Given the description of an element on the screen output the (x, y) to click on. 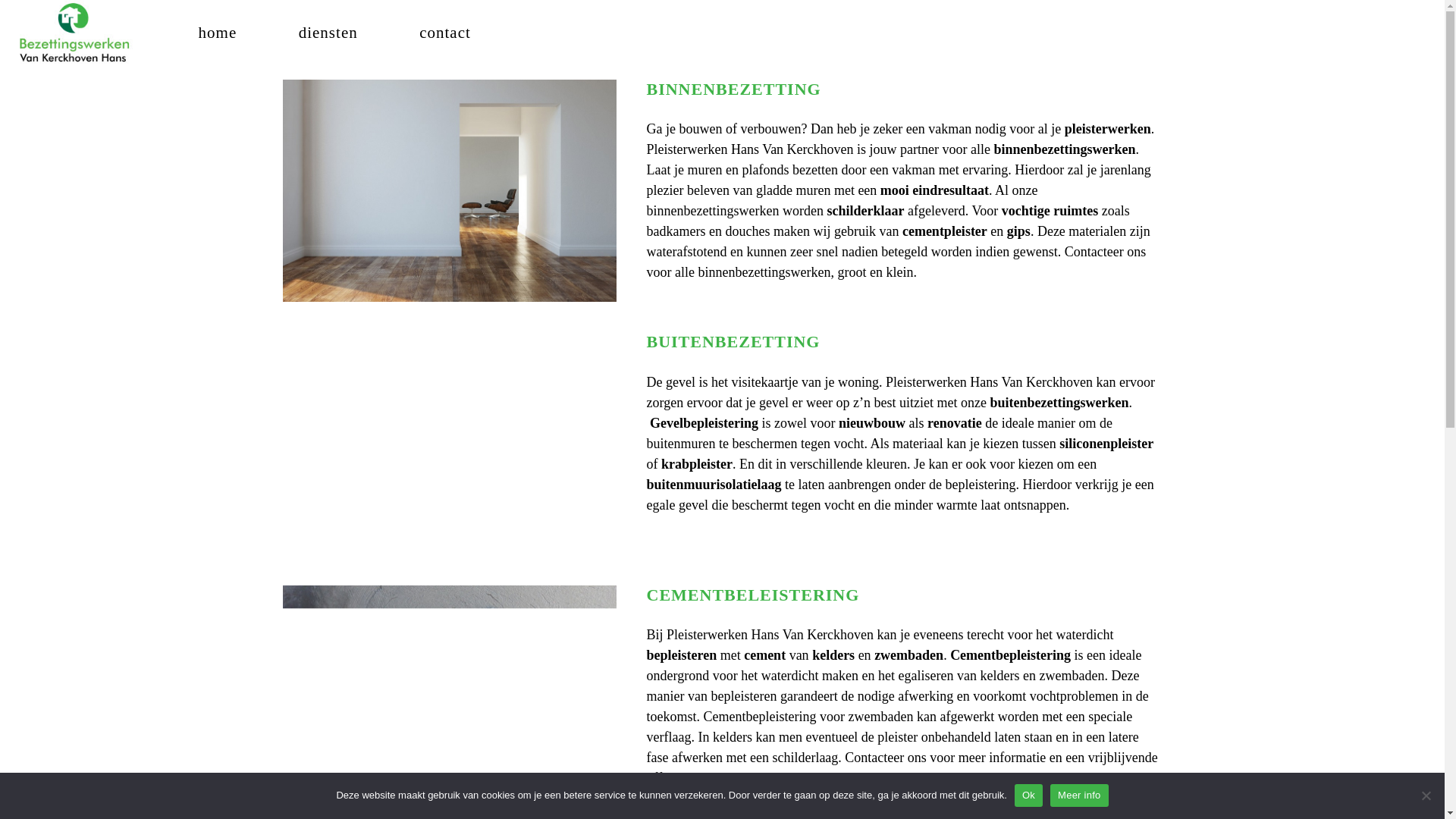
Meer info Element type: text (1078, 795)
diensten Element type: text (328, 31)
contact Element type: text (444, 31)
Ok Element type: text (1028, 795)
Nee Element type: hover (1425, 795)
home Element type: text (217, 31)
